Given the description of an element on the screen output the (x, y) to click on. 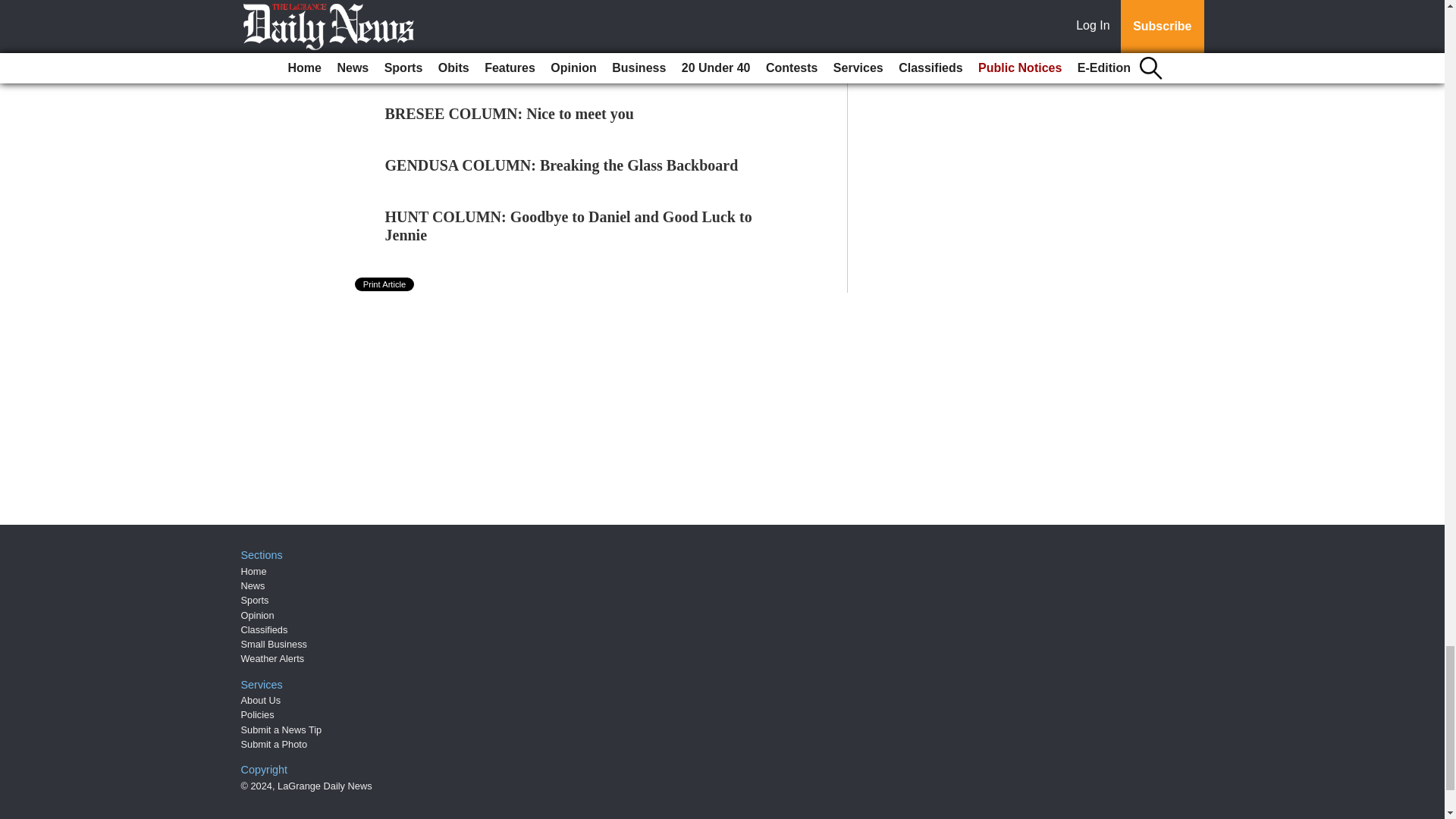
Sports (255, 600)
GENDUSA COLUMN: Breaking the Glass Backboard (561, 165)
Print Article (384, 284)
The Right Use of Strength (469, 62)
BRESEE COLUMN: Nice to meet you (509, 113)
HUNT COLUMN: Goodbye to Daniel and Good Luck to Jennie (568, 225)
BRESEE COLUMN: Nice to meet you (509, 113)
HUNT COLUMN: Goodbye to Daniel and Good Luck to Jennie (568, 225)
News (252, 585)
GENDUSA COLUMN: Breaking the Glass Backboard (561, 165)
